Given the description of an element on the screen output the (x, y) to click on. 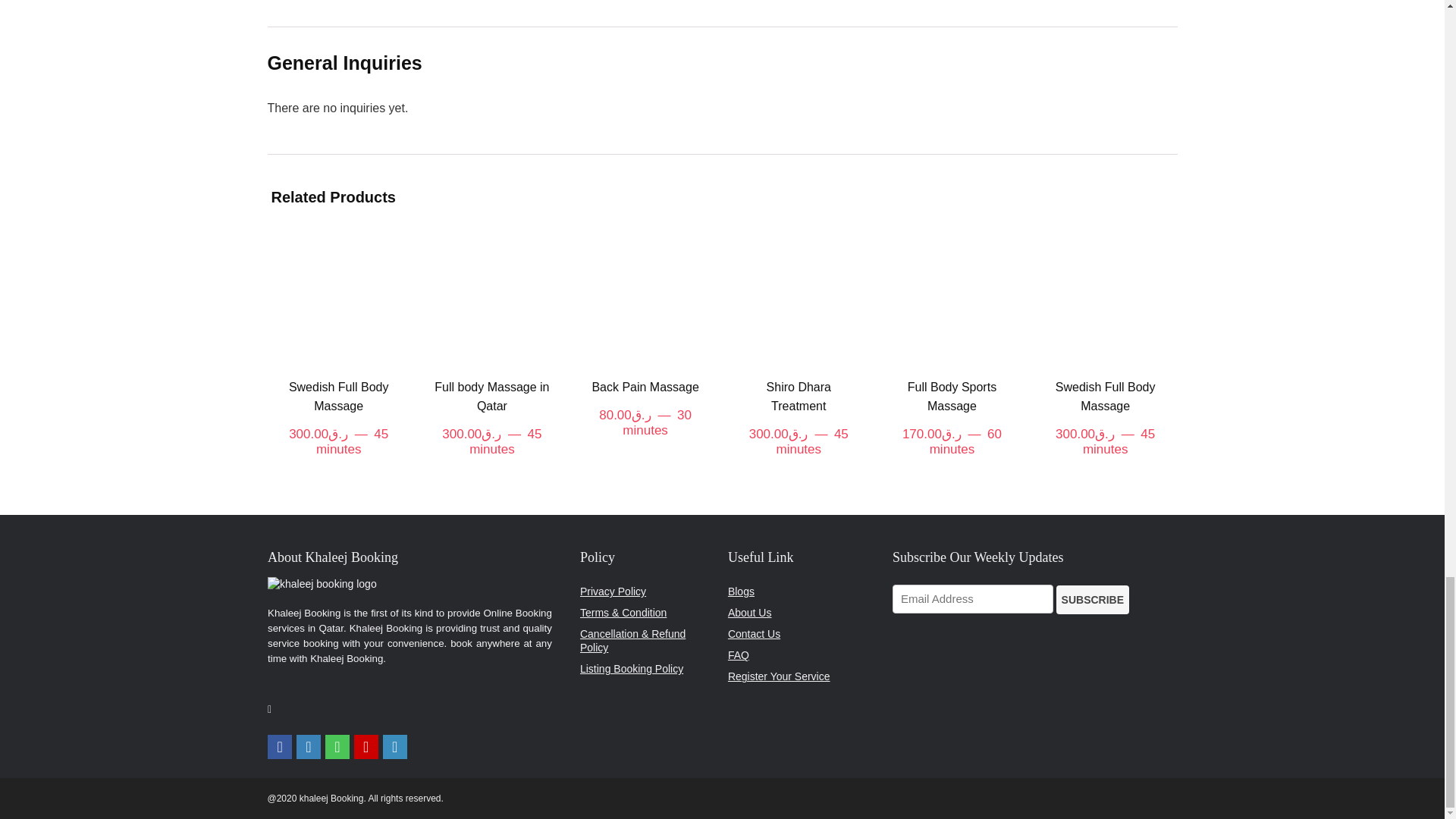
SUBSCRIBE (1093, 599)
